Given the description of an element on the screen output the (x, y) to click on. 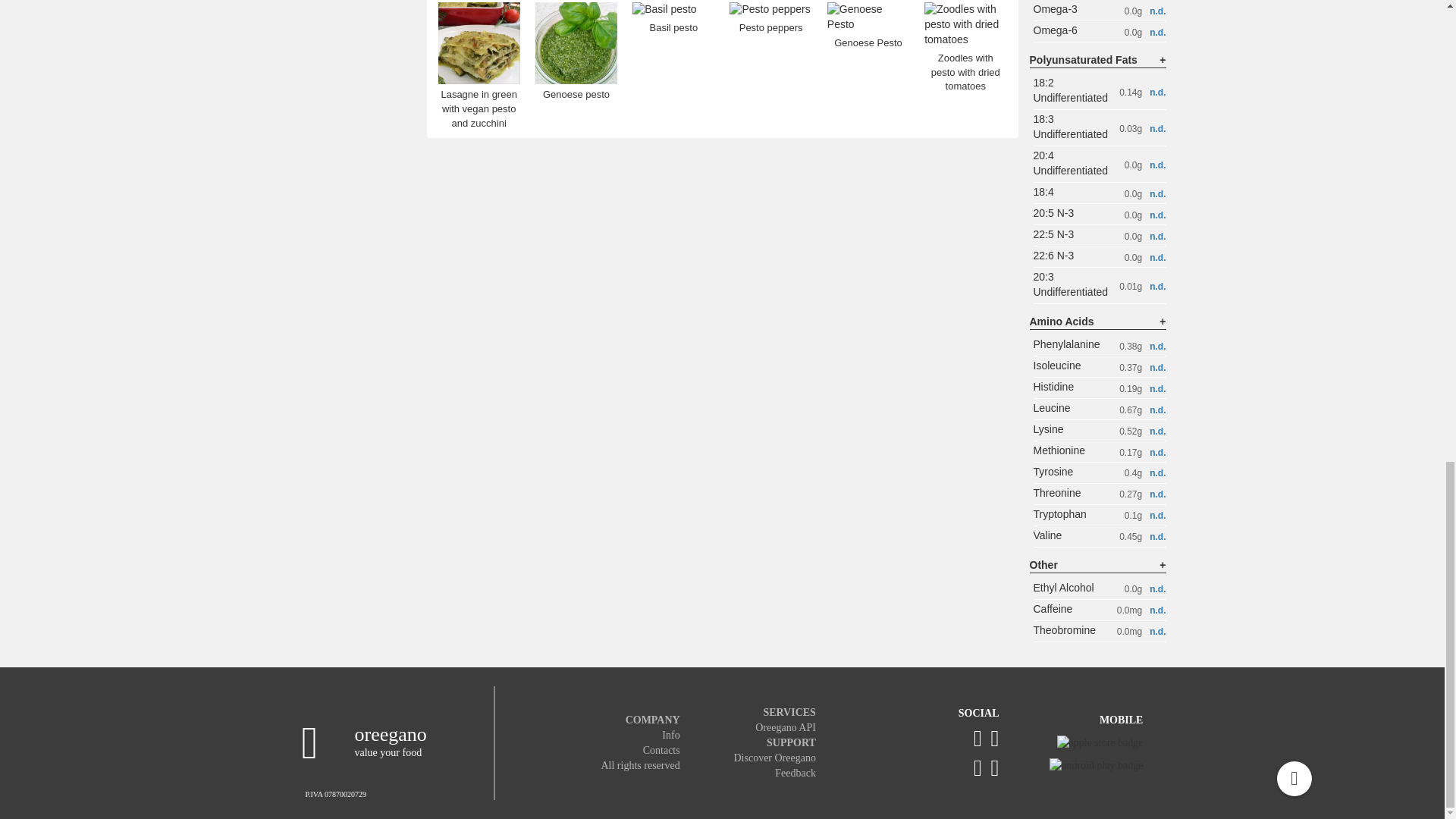
Pesto peppers (769, 19)
Genoese pesto (576, 69)
Genoese Pesto (867, 30)
Zoodles with pesto with dried tomatoes (965, 56)
Basil pesto (672, 19)
